Given the description of an element on the screen output the (x, y) to click on. 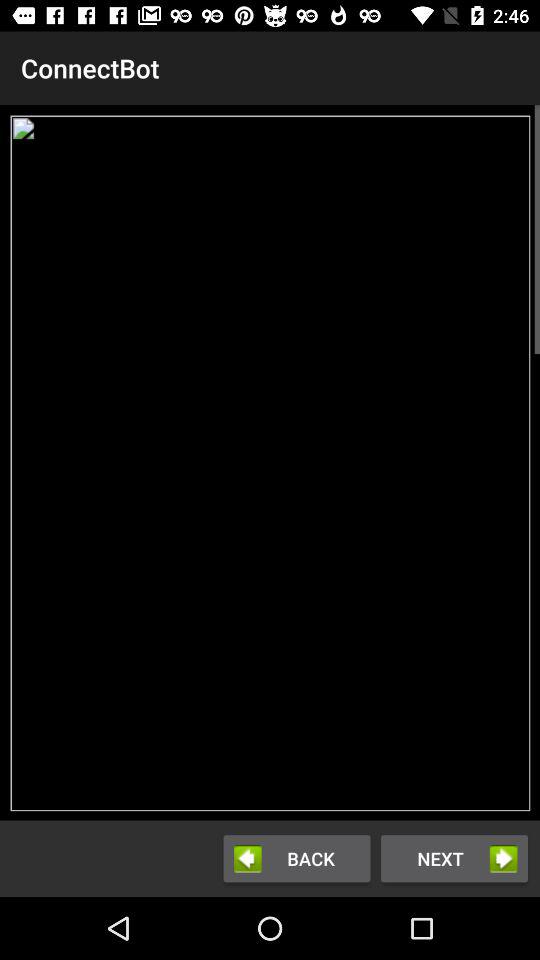
click the button next to the next (296, 858)
